Given the description of an element on the screen output the (x, y) to click on. 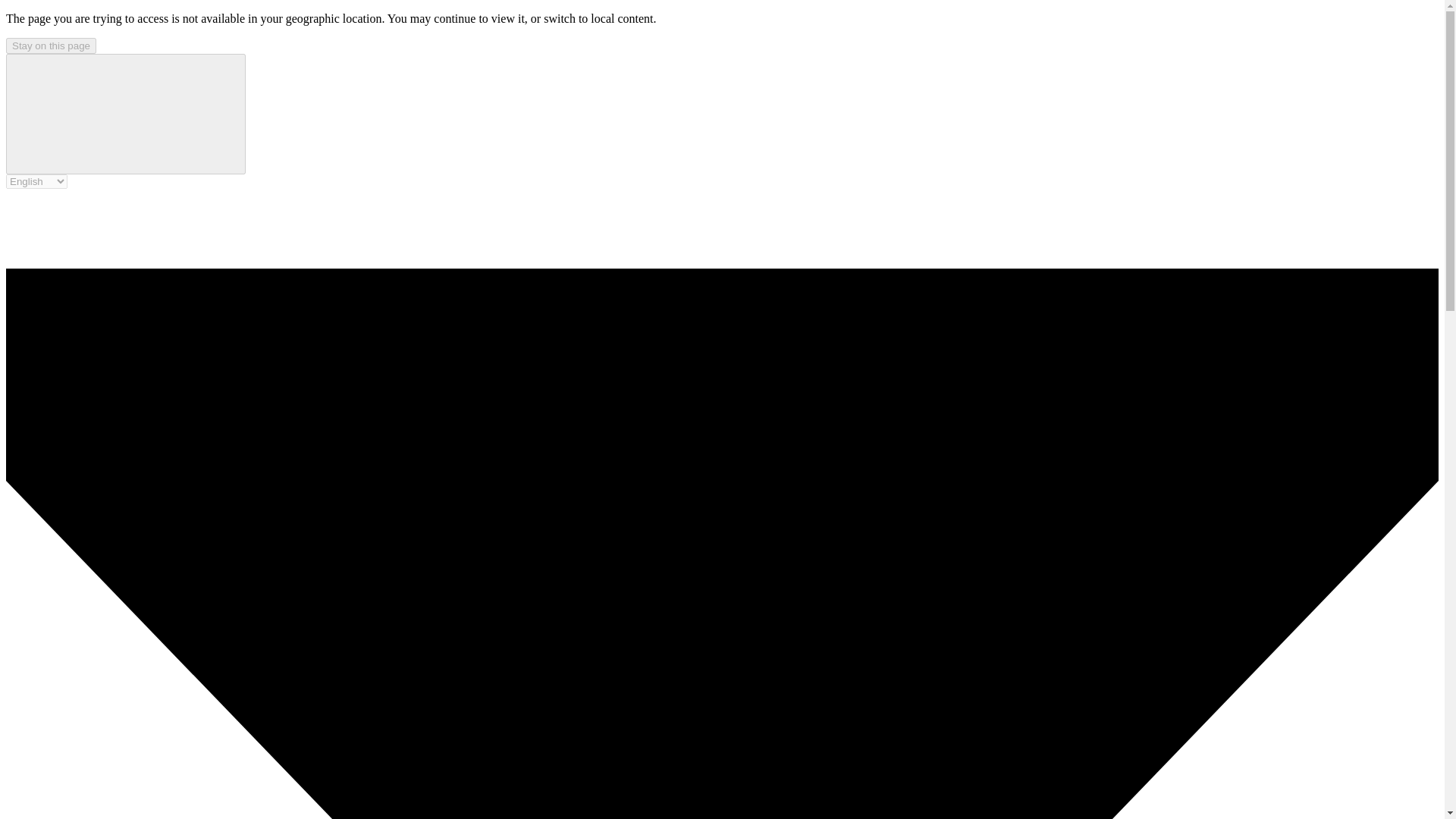
Stay on this page (50, 45)
